Given the description of an element on the screen output the (x, y) to click on. 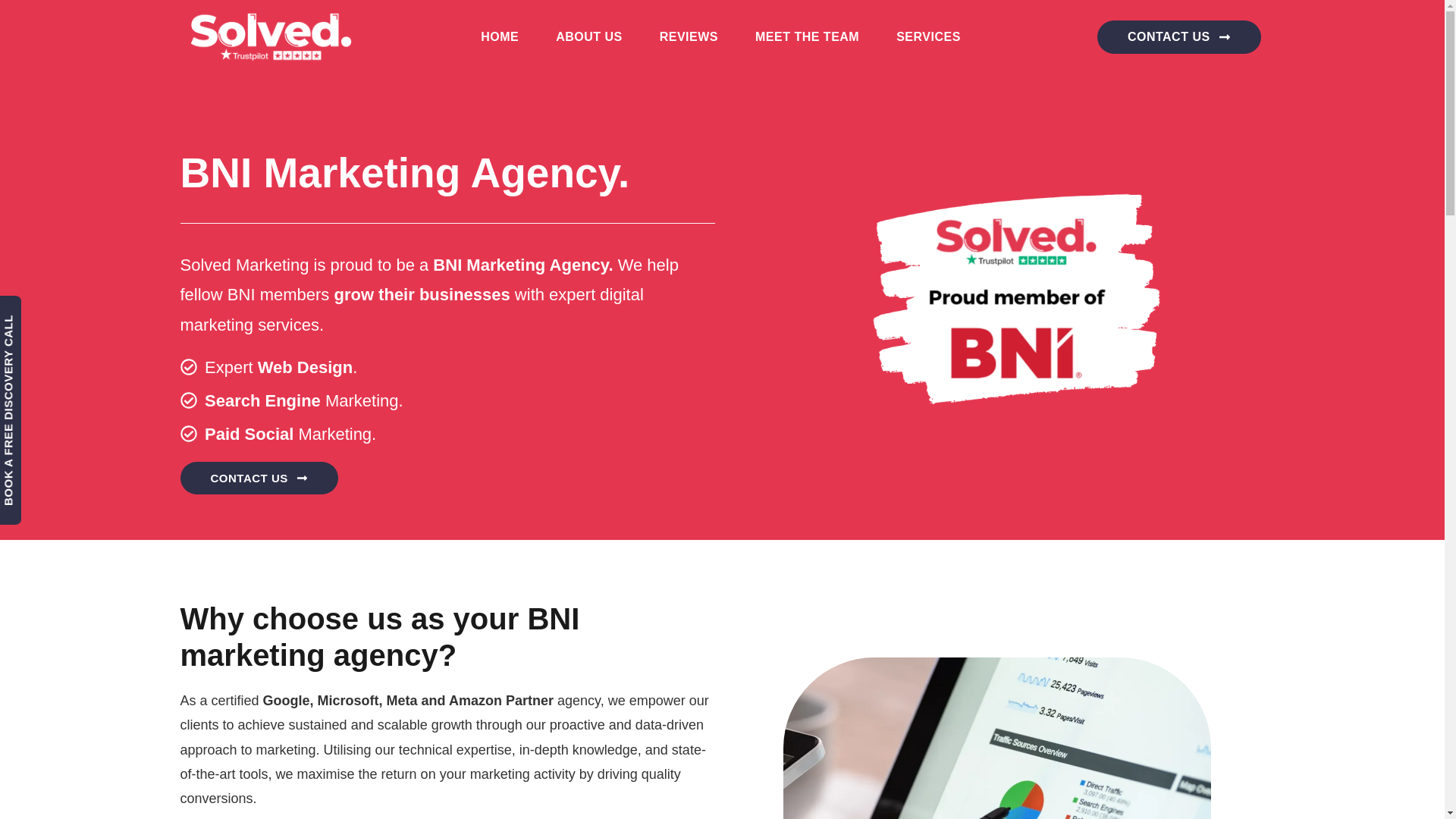
SERVICES (928, 36)
HOME (499, 36)
REVIEWS (688, 36)
CONTACT US (258, 477)
CONTACT US (1178, 37)
MEET THE TEAM (807, 36)
ABOUT US (589, 36)
